Given the description of an element on the screen output the (x, y) to click on. 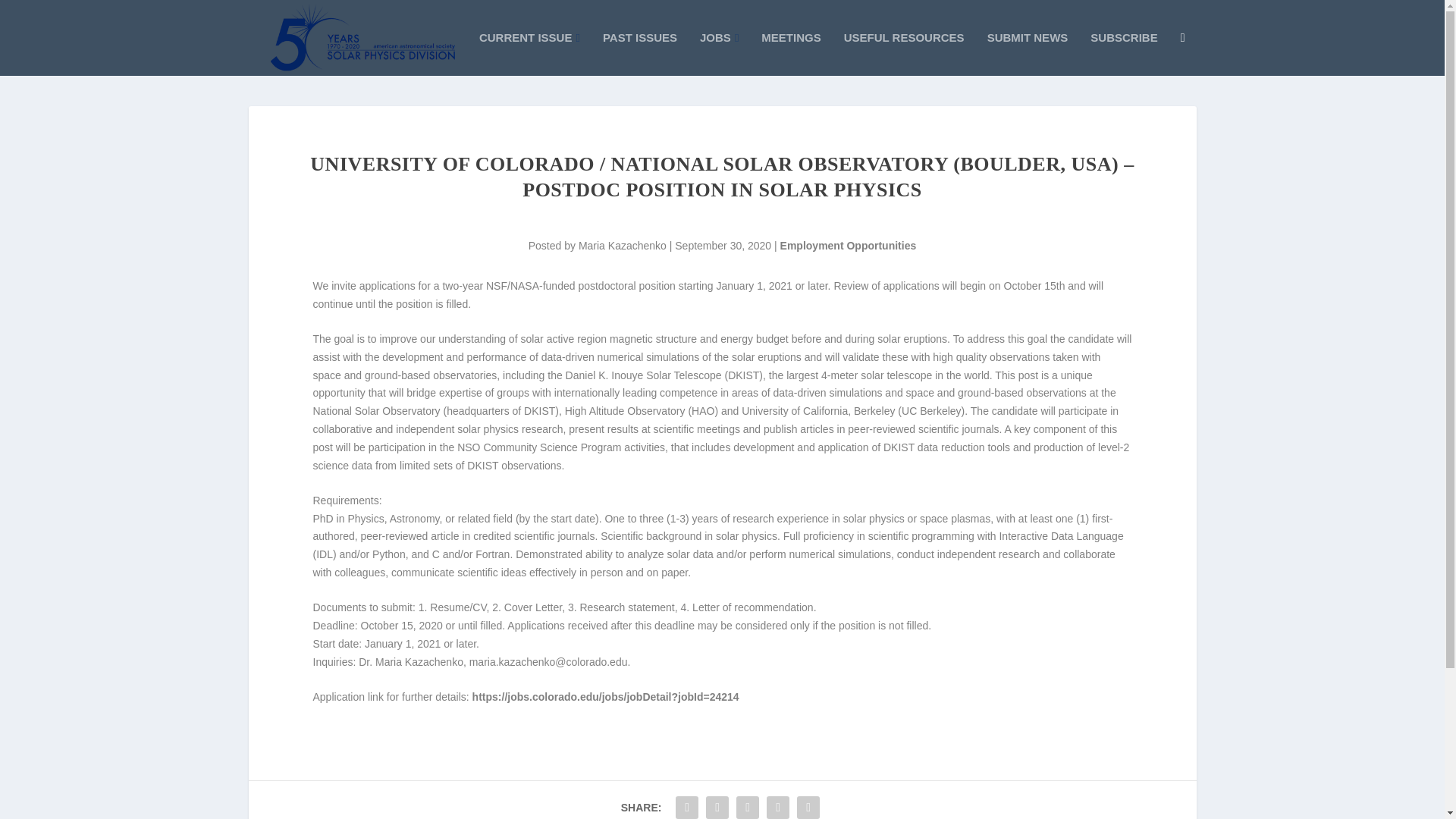
SUBMIT NEWS (1027, 53)
CURRENT ISSUE (529, 53)
PAST ISSUES (639, 53)
USEFUL RESOURCES (903, 53)
Employment Opportunities (848, 245)
SUBSCRIBE (1123, 53)
MEETINGS (791, 53)
